Given the description of an element on the screen output the (x, y) to click on. 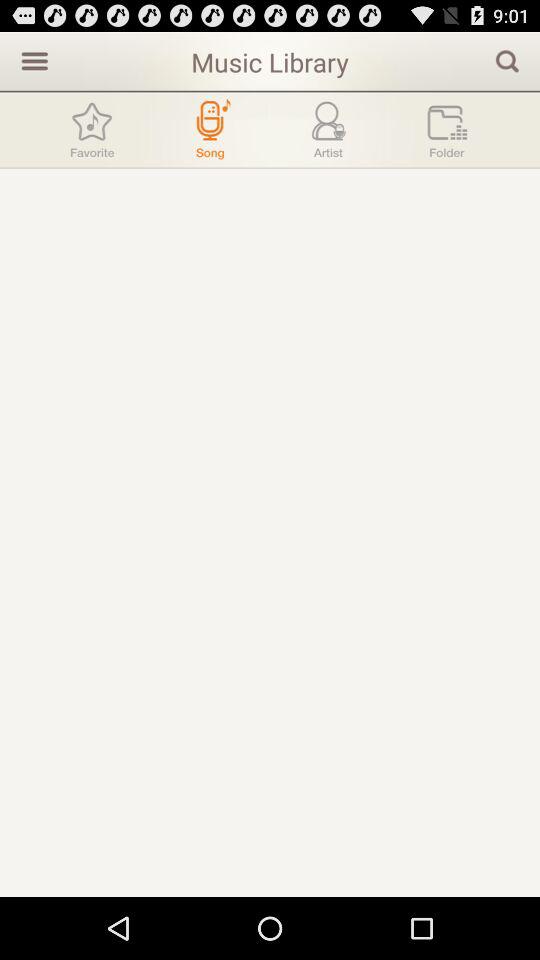
go to song list (210, 129)
